Given the description of an element on the screen output the (x, y) to click on. 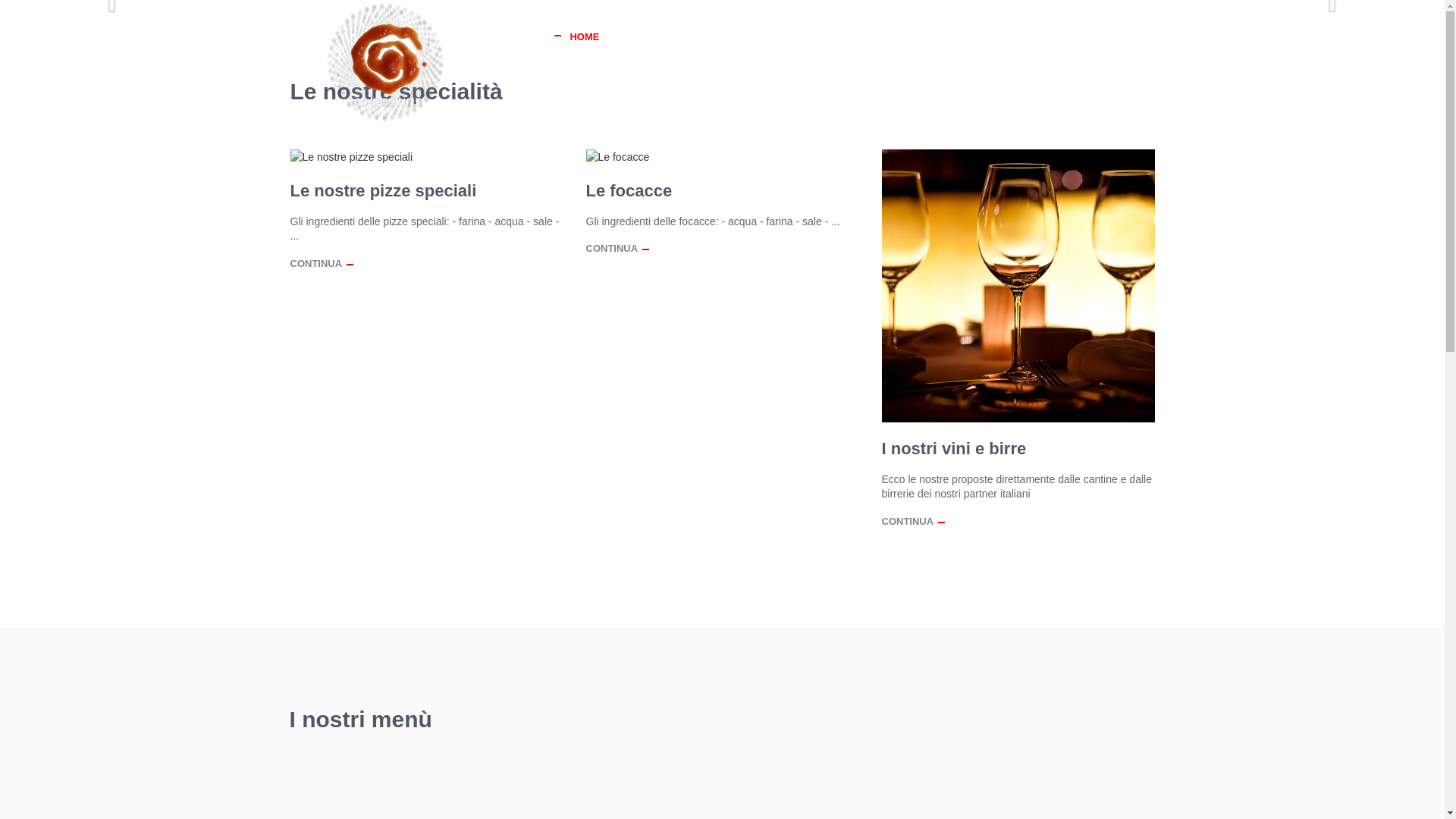
PRODOTTI Element type: text (737, 36)
HOME Element type: text (584, 36)
320celsius Element type: hover (384, 61)
Le nostre pizze speciali Element type: text (382, 190)
I nostri vini e birre Element type: text (953, 448)
Le focacce Element type: text (628, 190)
CONTATTI Element type: text (1122, 36)
NEWS Element type: text (1061, 36)
CONTINUA Element type: text (907, 521)
CONTINUA Element type: text (315, 263)
CHI SIAMO Element type: text (655, 36)
CONTINUA Element type: text (611, 248)
